Given the description of an element on the screen output the (x, y) to click on. 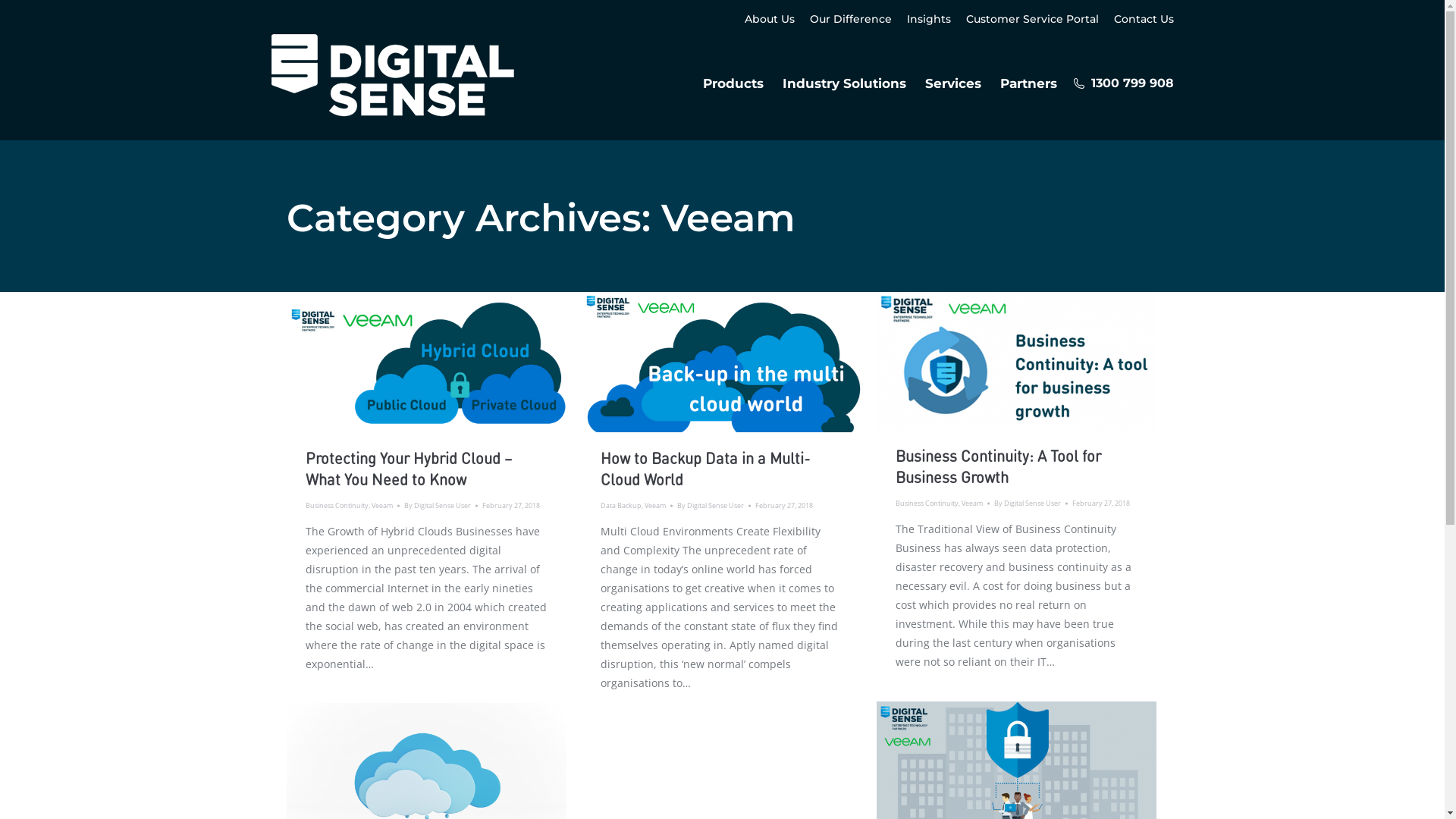
Products Element type: text (732, 83)
About Us Element type: text (769, 18)
Data Backup Element type: text (620, 505)
Customer Service Portal Element type: text (1032, 18)
Industry Solutions Element type: text (844, 83)
Veeam Element type: text (971, 503)
February 27, 2018 Element type: text (1100, 503)
Veeam Element type: text (654, 505)
Business Continuity Element type: text (925, 503)
Business Continuity: A Tool for Business Growth Element type: text (997, 465)
1300 799 908 Element type: text (1122, 83)
Veeam Element type: text (381, 505)
Insights Element type: text (928, 18)
February 27, 2018 Element type: text (510, 505)
Business Continuity Element type: text (335, 505)
Contact Us Element type: text (1143, 18)
By Digital Sense User Element type: text (712, 505)
How to Backup Data in a Multi-Cloud World Element type: text (705, 467)
By Digital Sense User Element type: text (439, 505)
Our Difference Element type: text (850, 18)
February 27, 2018 Element type: text (783, 505)
Services Element type: text (953, 83)
Partners Element type: text (1028, 83)
By Digital Sense User Element type: text (1029, 503)
